Given the description of an element on the screen output the (x, y) to click on. 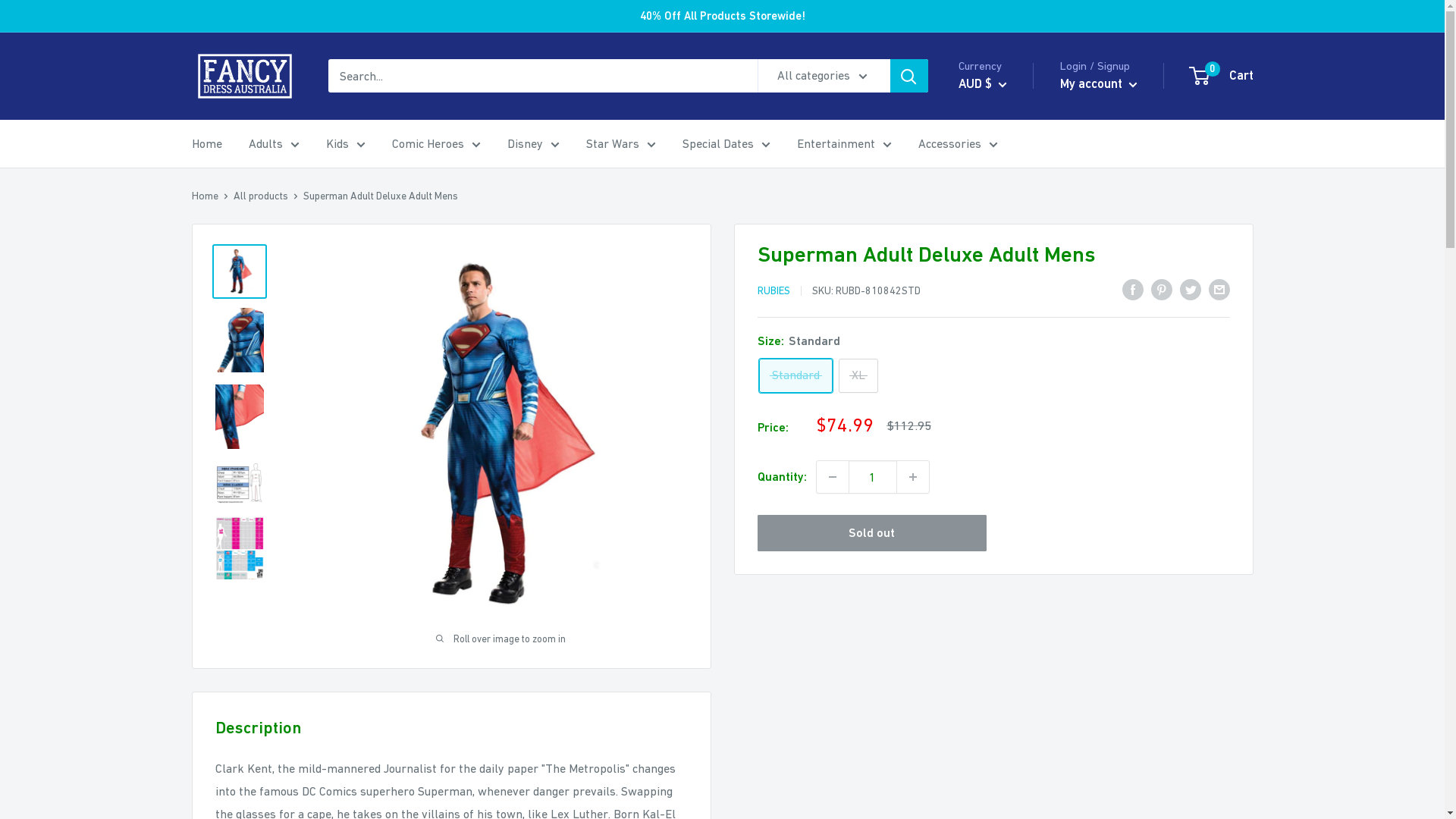
BBD Element type: text (1004, 470)
CVE Element type: text (1004, 793)
FKP Element type: text (229, 572)
GBP Element type: text (229, 592)
CRC Element type: text (1004, 771)
Home Element type: text (206, 143)
AUD Element type: text (229, 10)
BAM Element type: text (229, 70)
DOP Element type: text (229, 452)
DKK Element type: text (229, 431)
ETB Element type: text (229, 512)
EGP Element type: text (229, 492)
BWP Element type: text (1004, 632)
CDF Element type: text (1004, 701)
ANG Element type: text (1004, 354)
AUD Element type: text (1004, 377)
Comic Heroes Element type: text (435, 143)
CAD Element type: text (229, 271)
INR Element type: text (229, 793)
BAM Element type: text (1004, 446)
Kids Element type: text (345, 143)
BZD Element type: text (229, 251)
Star Wars Element type: text (620, 143)
GNF Element type: text (229, 632)
All products Element type: text (260, 195)
AZN Element type: text (229, 50)
BOB Element type: text (229, 191)
AWG Element type: text (229, 30)
Disney Element type: text (532, 143)
Sold out Element type: text (871, 532)
CDF Element type: text (229, 291)
BIF Element type: text (229, 151)
BSD Element type: text (1004, 608)
Accessories Element type: text (957, 143)
BOB Element type: text (1004, 586)
BDT Element type: text (1004, 492)
AMD Element type: text (1004, 331)
CAD Element type: text (1004, 678)
BSD Element type: text (229, 211)
BND Element type: text (1004, 562)
BWP Element type: text (229, 231)
Decrease quantity by 1 Element type: hover (831, 476)
DZD Element type: text (229, 472)
CVE Element type: text (229, 371)
Adults Element type: text (273, 143)
CNY Element type: text (229, 331)
HUF Element type: text (229, 732)
GYD Element type: text (229, 673)
BBD Element type: text (229, 90)
AFN Element type: text (1004, 285)
DJF Element type: text (229, 412)
GTQ Element type: text (229, 652)
My account Element type: text (1098, 84)
RUBIES Element type: text (772, 290)
CHF Element type: text (1004, 724)
BDT Element type: text (229, 111)
CZK Element type: text (229, 391)
CNY Element type: text (1004, 747)
AZN Element type: text (1004, 423)
BGN Element type: text (1004, 516)
BGN Element type: text (229, 130)
Fancy Dress Australia Element type: text (244, 75)
BND Element type: text (229, 171)
AWG Element type: text (1004, 400)
HKD Element type: text (229, 692)
BZD Element type: text (1004, 655)
0
Cart Element type: text (1221, 75)
Entertainment Element type: text (843, 143)
CRC Element type: text (229, 351)
HNL Element type: text (229, 713)
IDR Element type: text (229, 753)
Special Dates Element type: text (726, 143)
Increase quantity by 1 Element type: hover (912, 476)
FJD Element type: text (229, 552)
AUD $ Element type: text (982, 84)
GMD Element type: text (229, 613)
Home Element type: text (204, 195)
EUR Element type: text (229, 532)
BIF Element type: text (1004, 539)
CHF Element type: text (229, 312)
ILS Element type: text (229, 773)
AED Element type: text (1004, 261)
ALL Element type: text (1004, 307)
